Given the description of an element on the screen output the (x, y) to click on. 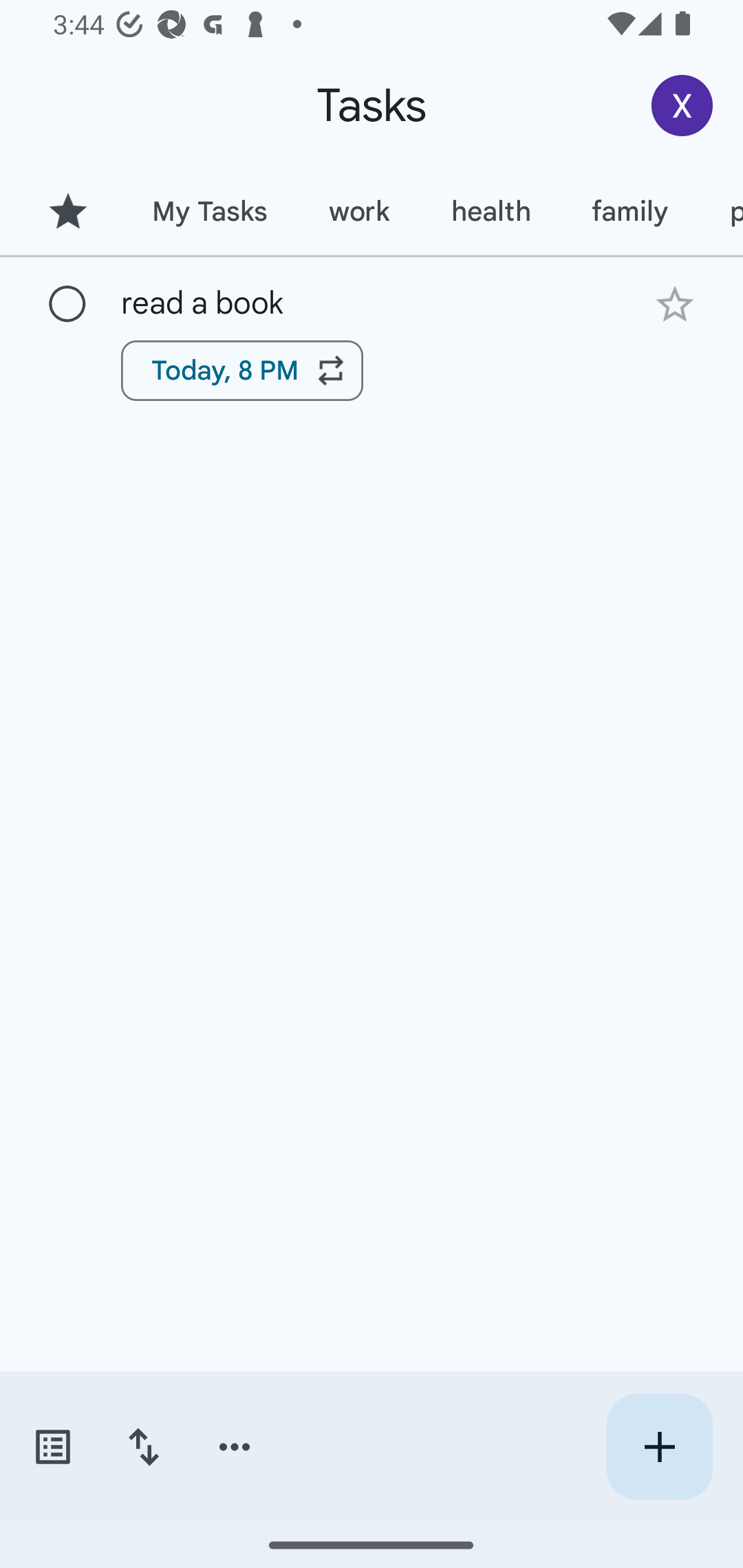
Starred (67, 211)
My Tasks (209, 211)
work (358, 211)
health (490, 211)
family (629, 211)
Add star (674, 303)
Mark as complete (67, 304)
Today, 8 PM (242, 369)
Switch task lists (52, 1447)
Create new task (659, 1446)
Change sort order (143, 1446)
More options (234, 1446)
